Given the description of an element on the screen output the (x, y) to click on. 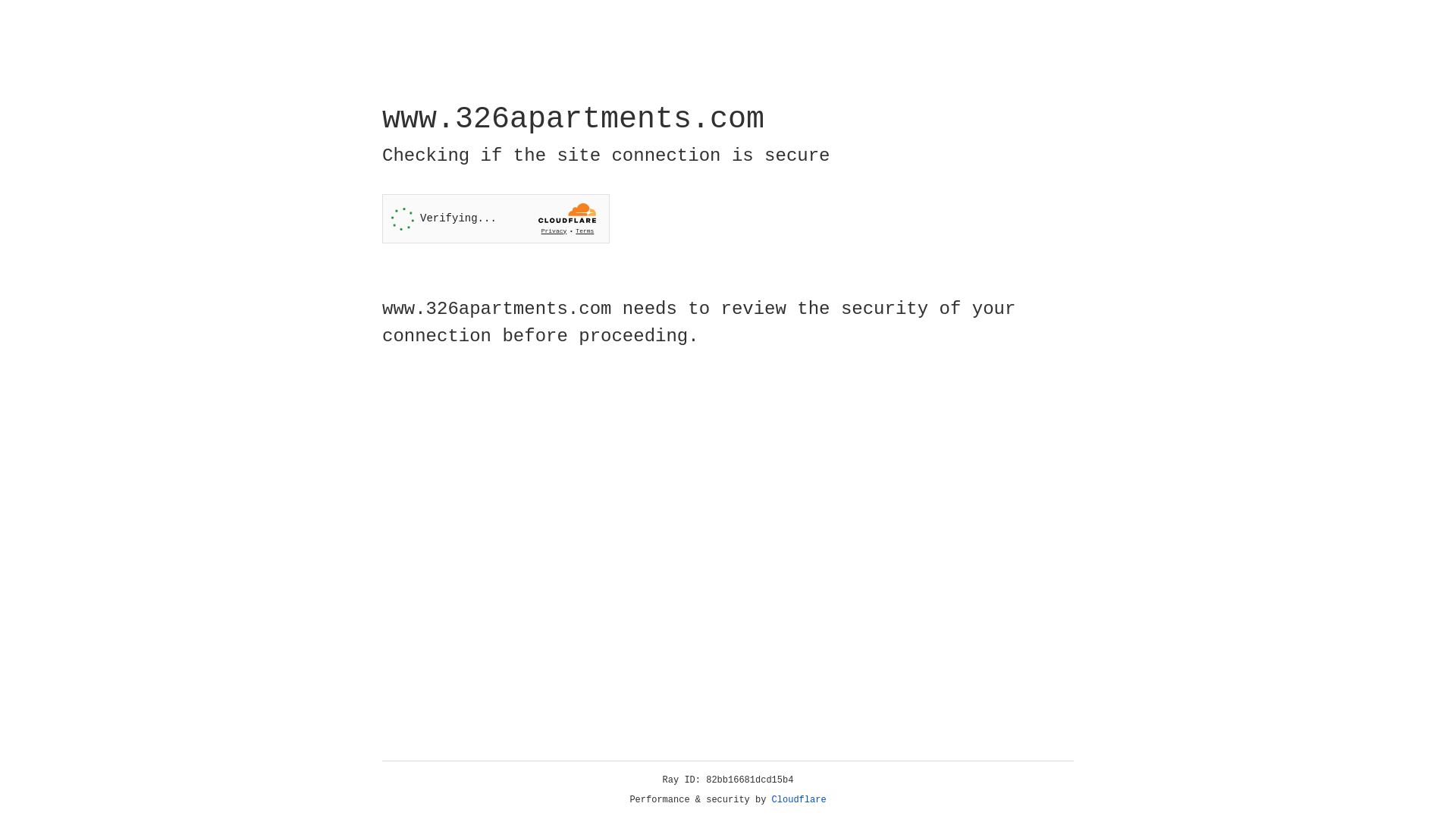
Widget containing a Cloudflare security challenge Element type: hover (495, 218)
Cloudflare Element type: text (798, 799)
